Given the description of an element on the screen output the (x, y) to click on. 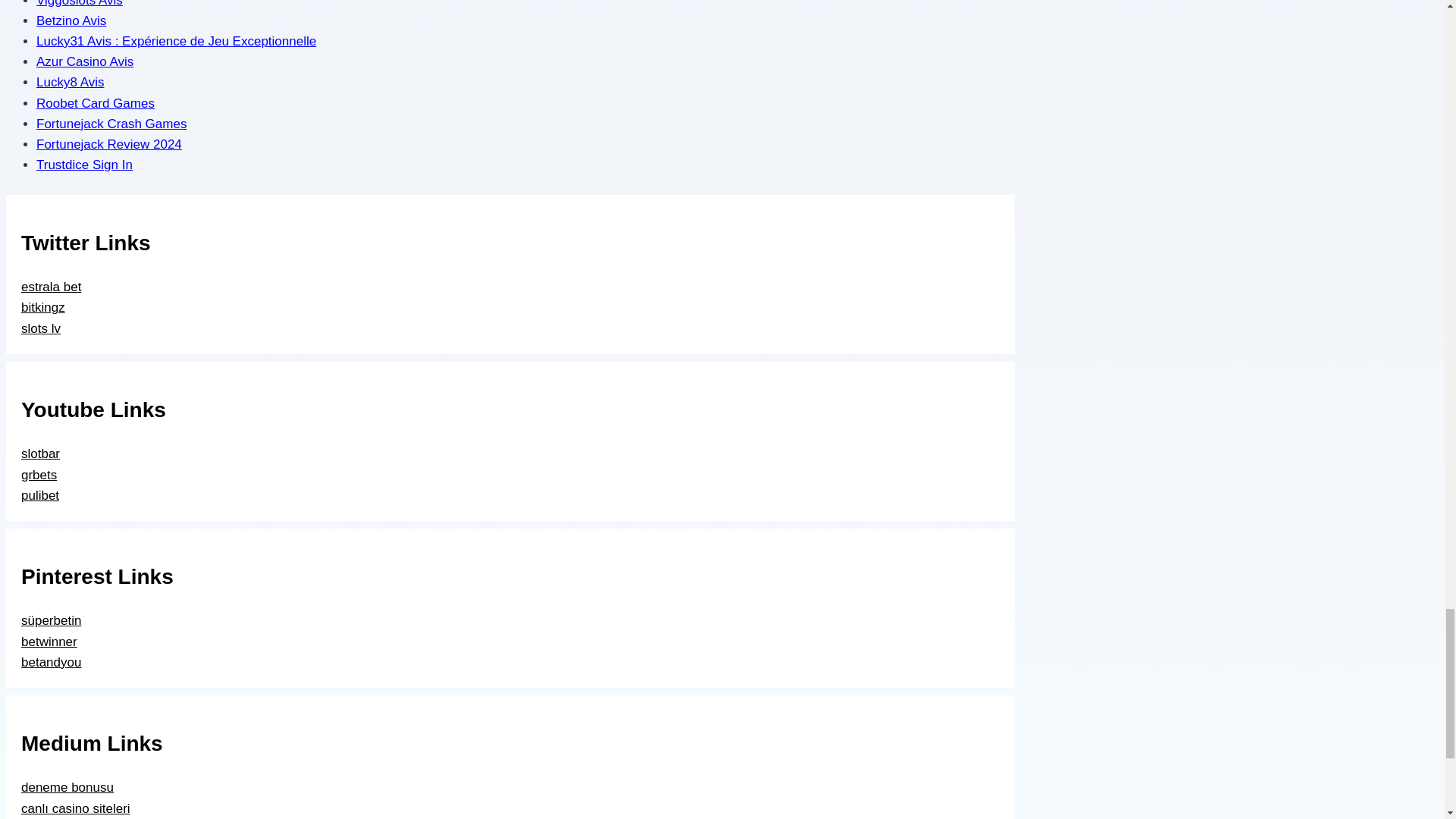
Azur Casino Avis (84, 61)
pulibet (40, 495)
Betzino Avis (71, 20)
Fortunejack Crash Games (111, 124)
betwinner (49, 641)
Roobet Card Games (95, 103)
estrala bet (51, 287)
betandyou (51, 662)
slots lv (41, 328)
bitkingz (43, 307)
